Given the description of an element on the screen output the (x, y) to click on. 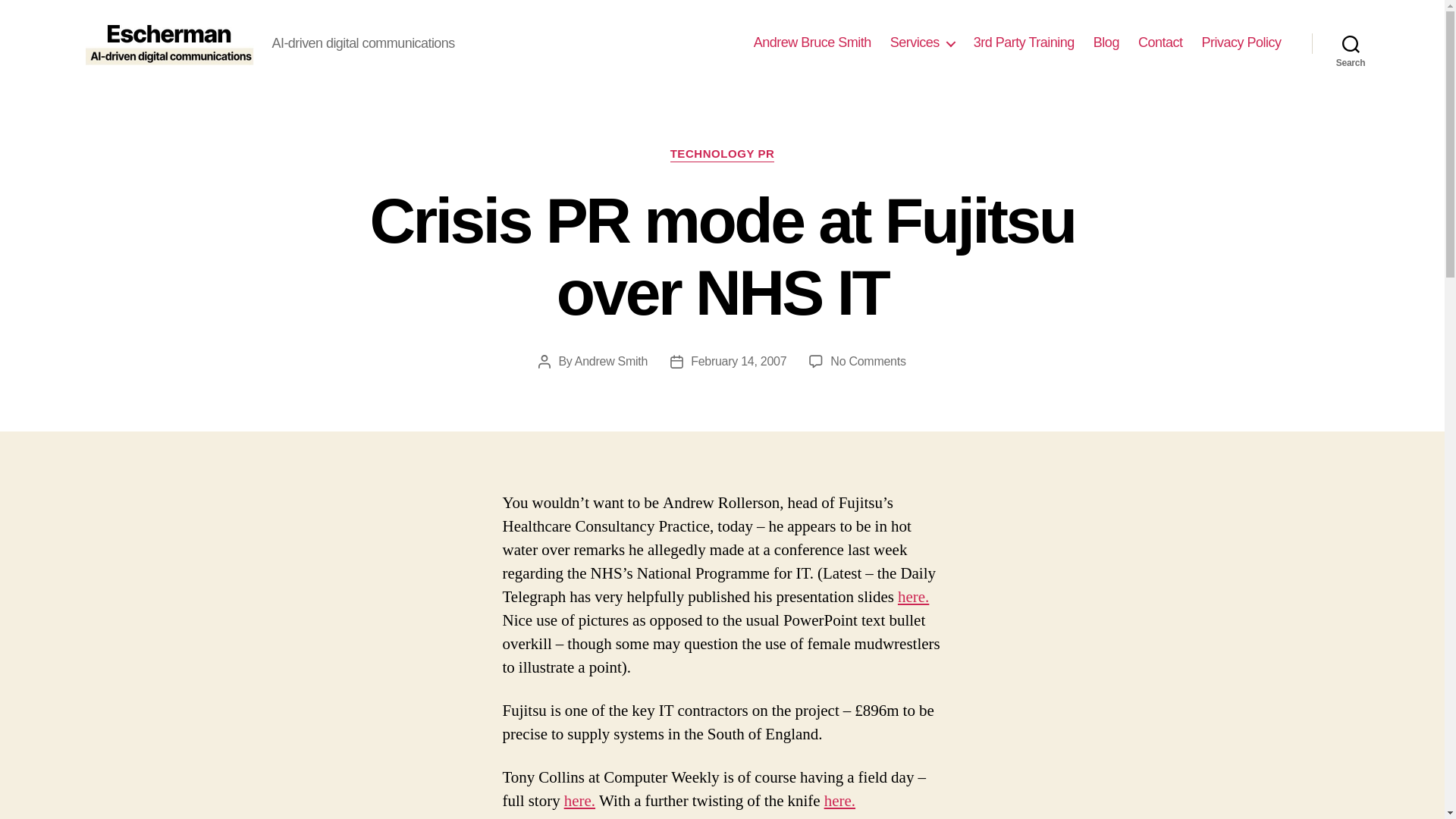
Privacy Policy (1241, 43)
Blog (1106, 43)
TECHNOLOGY PR (721, 154)
Contact (1160, 43)
Services (922, 43)
Andrew Bruce Smith (812, 43)
here. (579, 801)
3rd Party Training (867, 360)
Search (1024, 43)
Andrew Smith (1350, 42)
here. (611, 360)
February 14, 2007 (840, 801)
here. (738, 360)
